Given the description of an element on the screen output the (x, y) to click on. 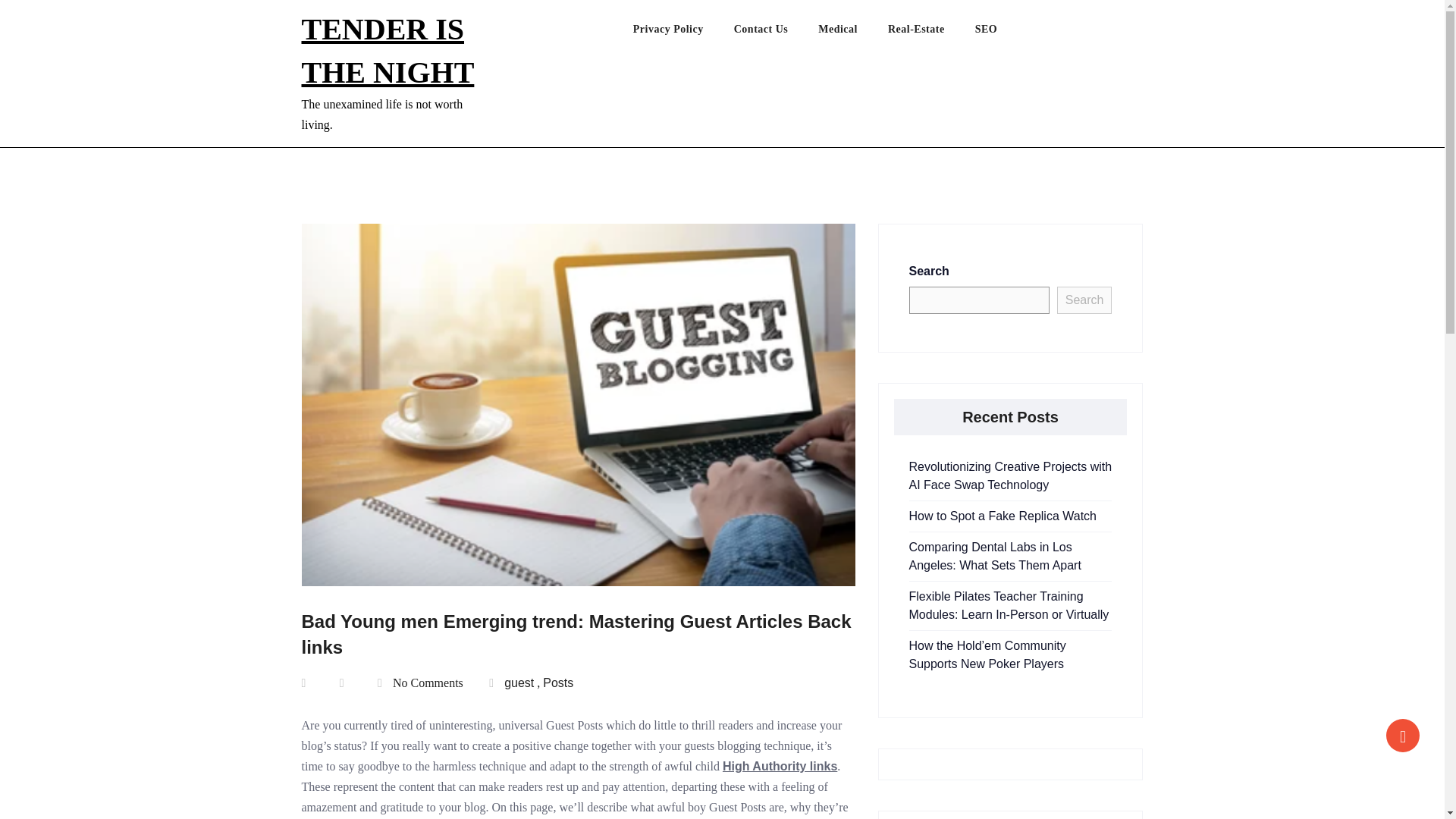
How to Spot a Fake Replica Watch (1002, 515)
Posts (558, 682)
Contact Us (775, 32)
Real-Estate (931, 32)
TENDER IS THE NIGHT (387, 50)
Medical (853, 32)
SEO (1001, 32)
Privacy Policy (683, 32)
